Given the description of an element on the screen output the (x, y) to click on. 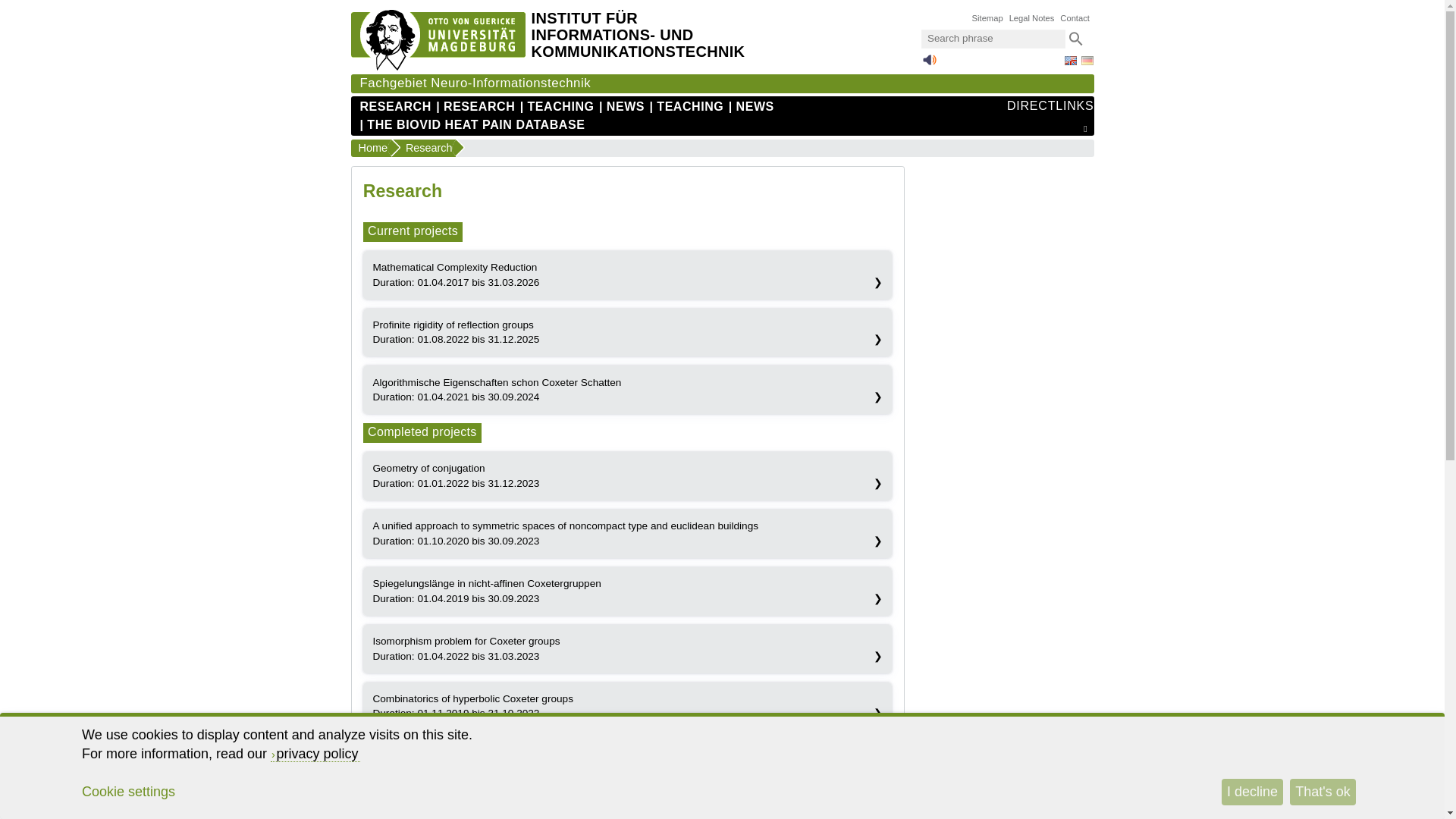
TEACHING (686, 106)
RESEARCH (475, 106)
NEWS (621, 106)
THE BIOVID HEAT PAIN DATABASE (472, 125)
RESEARCH (394, 106)
Homepage of the Otto-von-Guericke-University Magdeburg (437, 66)
Research (424, 147)
Home (370, 147)
TEACHING (556, 106)
Research (424, 147)
